Given the description of an element on the screen output the (x, y) to click on. 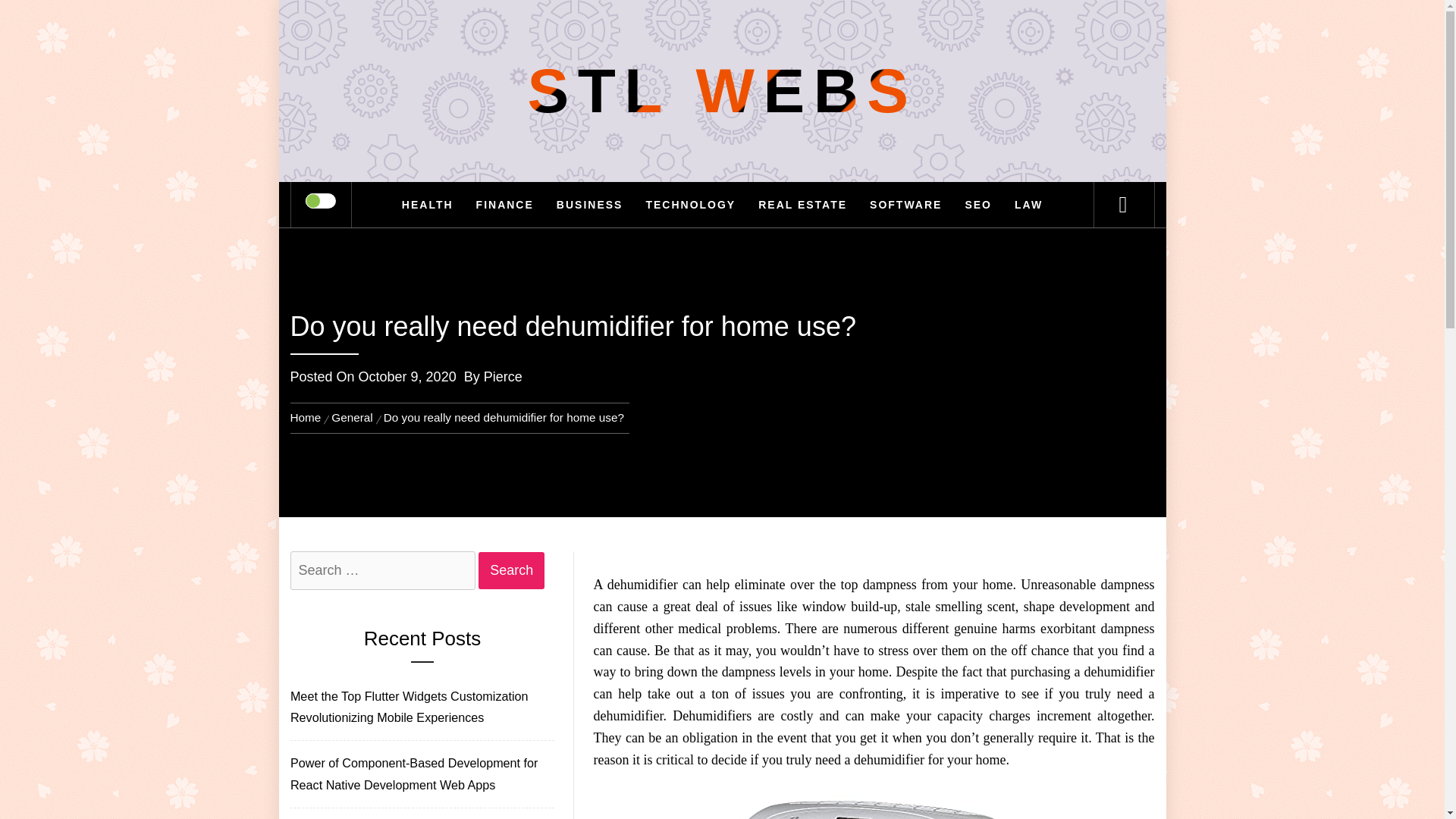
LAW (1028, 204)
SEO (978, 204)
STL WEBS (722, 90)
Pierce (502, 376)
Search (511, 570)
SOFTWARE (906, 204)
HEALTH (427, 204)
BUSINESS (589, 204)
Search (511, 570)
General (351, 417)
FINANCE (504, 204)
Search (797, 33)
REAL ESTATE (802, 204)
Search (511, 570)
